Given the description of an element on the screen output the (x, y) to click on. 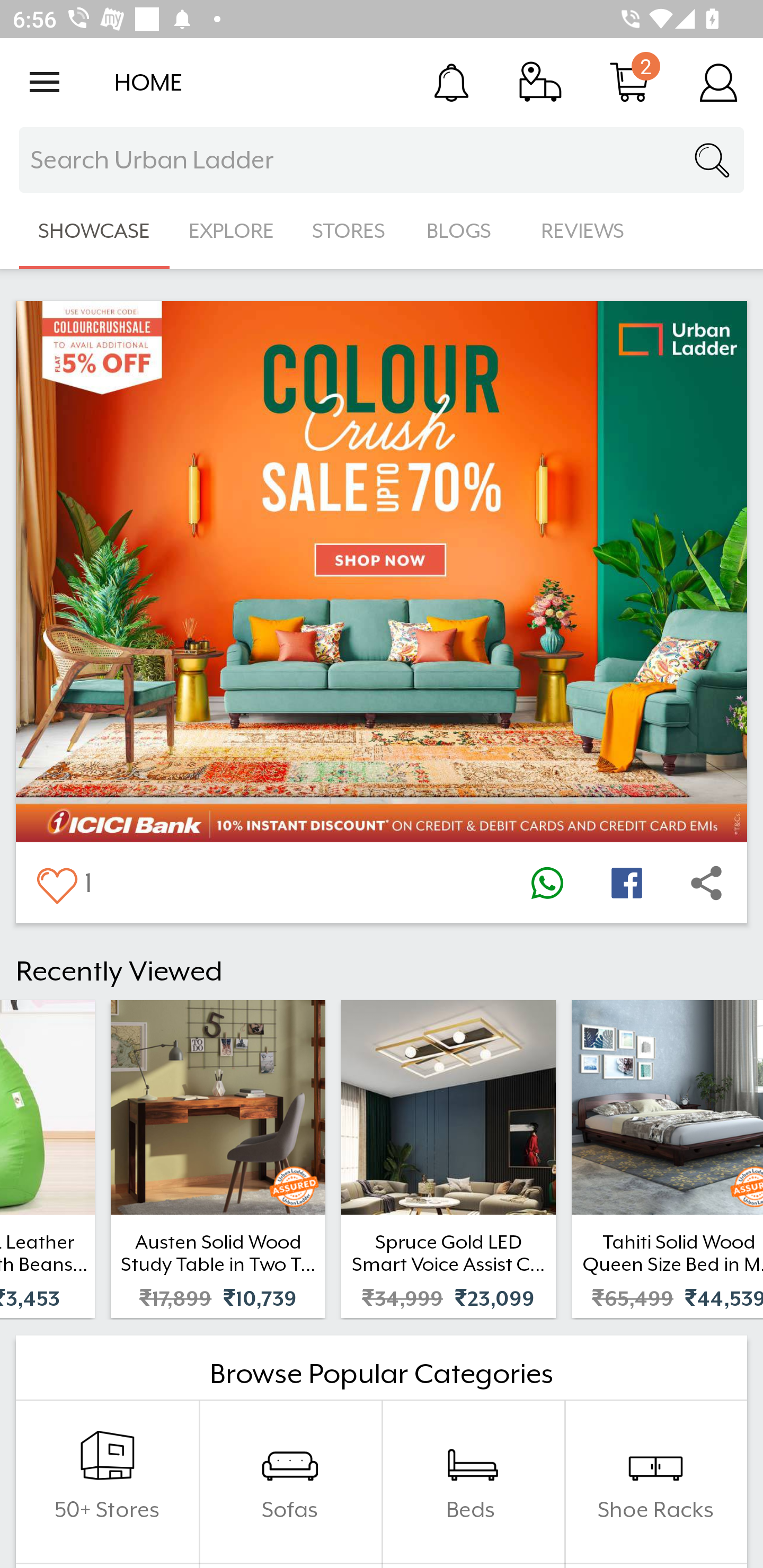
Open navigation drawer (44, 82)
Notification (450, 81)
Track Order (540, 81)
Cart (629, 81)
Account Details (718, 81)
Search Urban Ladder  (381, 159)
SHOWCASE (94, 230)
EXPLORE (230, 230)
STORES (349, 230)
BLOGS (464, 230)
REVIEWS (582, 230)
 (55, 882)
 (547, 882)
 (626, 882)
 (706, 882)
50+ Stores (106, 1481)
Sofas (289, 1481)
Beds  (473, 1481)
Shoe Racks (655, 1481)
